Given the description of an element on the screen output the (x, y) to click on. 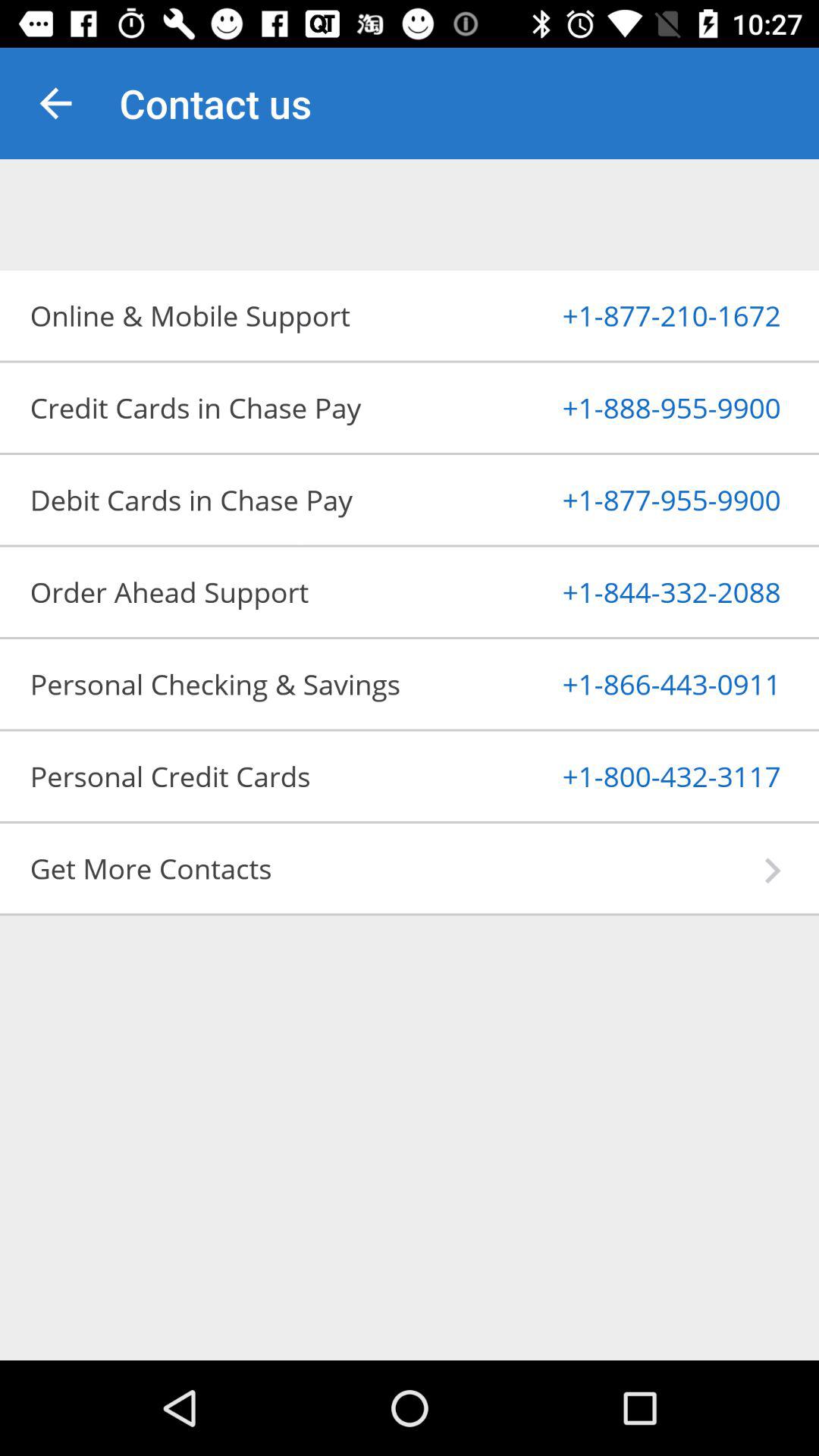
tap icon to the right of personal credit cards icon (634, 776)
